Given the description of an element on the screen output the (x, y) to click on. 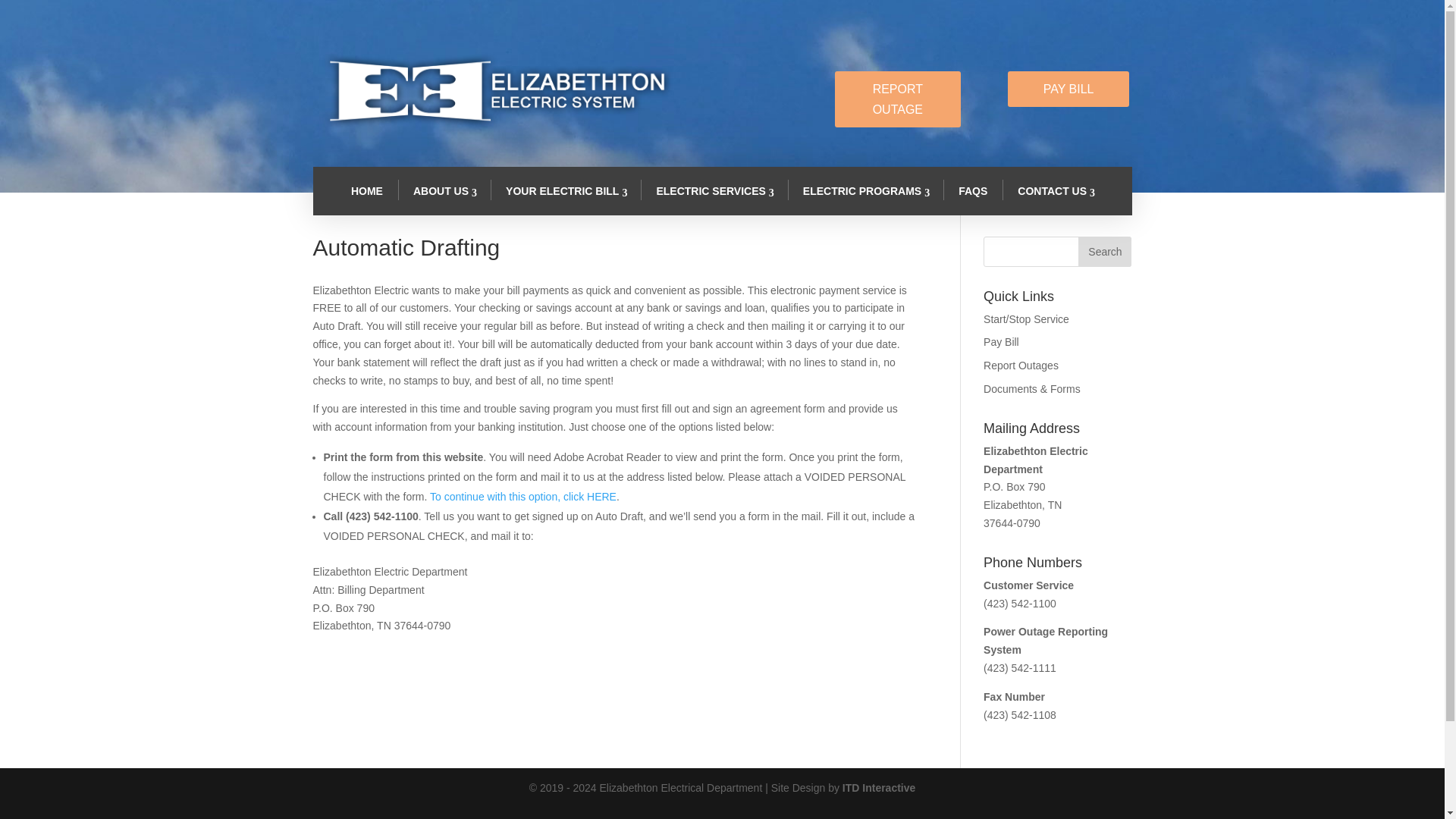
Search (1104, 251)
